Given the description of an element on the screen output the (x, y) to click on. 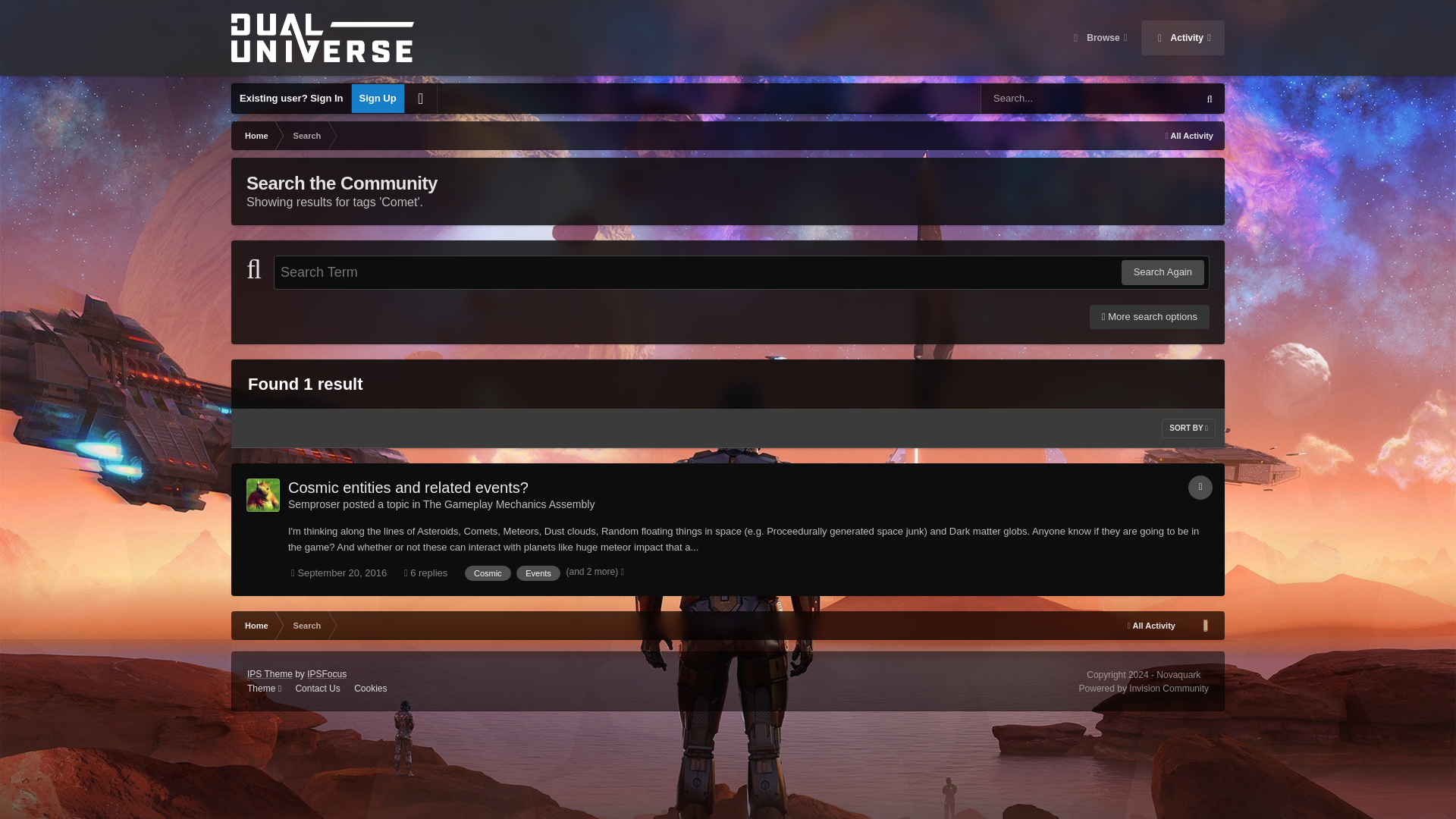
Activity (1182, 37)
Go to Semproser's profile (313, 503)
Customizer (420, 98)
Go to Semproser's profile (262, 494)
Topic (1200, 487)
Home (255, 135)
Search Again (1162, 272)
Browse (1099, 37)
Sign Up (378, 98)
Search (306, 135)
